Given the description of an element on the screen output the (x, y) to click on. 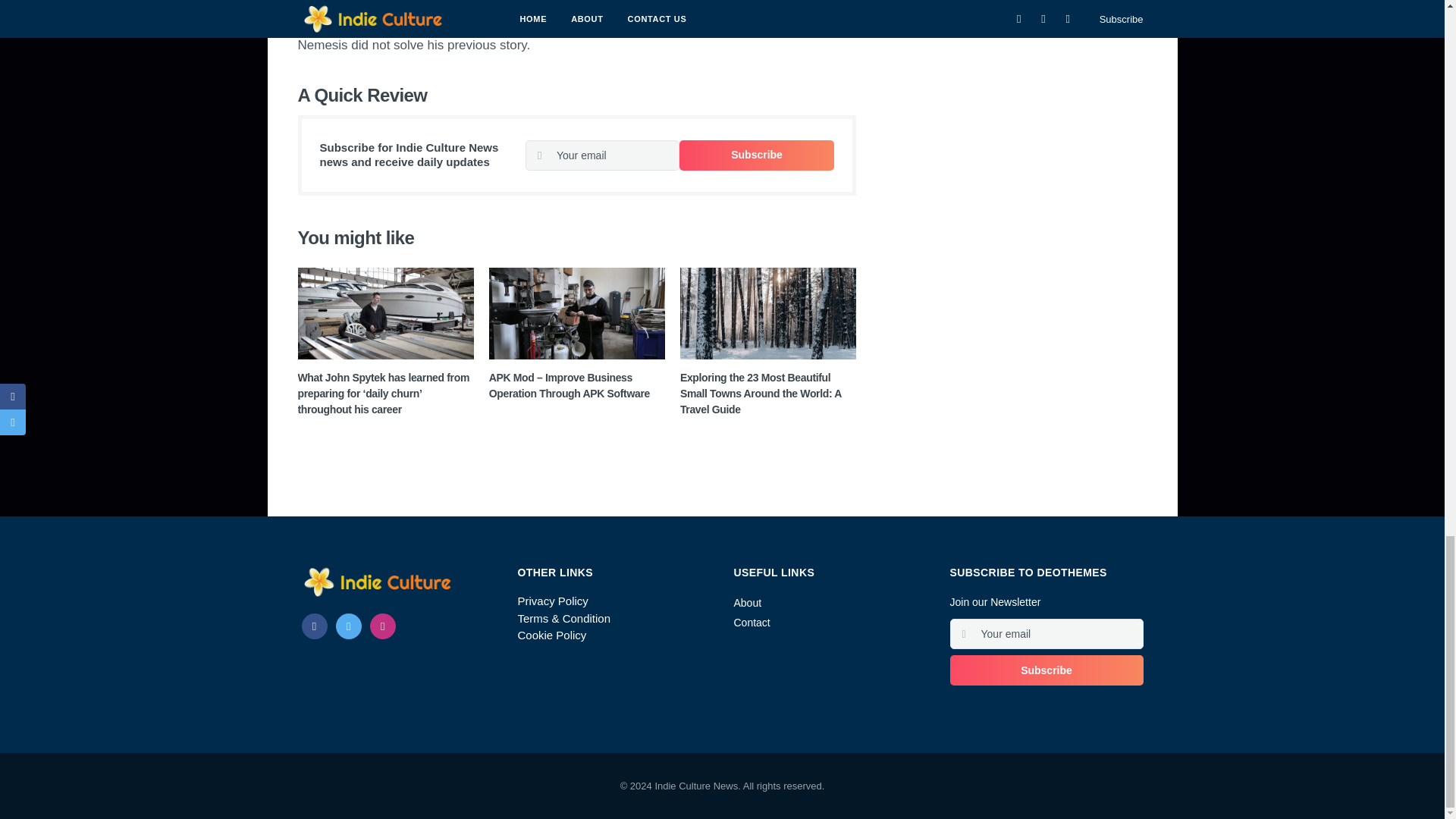
Subscribe (756, 155)
Subscribe (1045, 670)
